Given the description of an element on the screen output the (x, y) to click on. 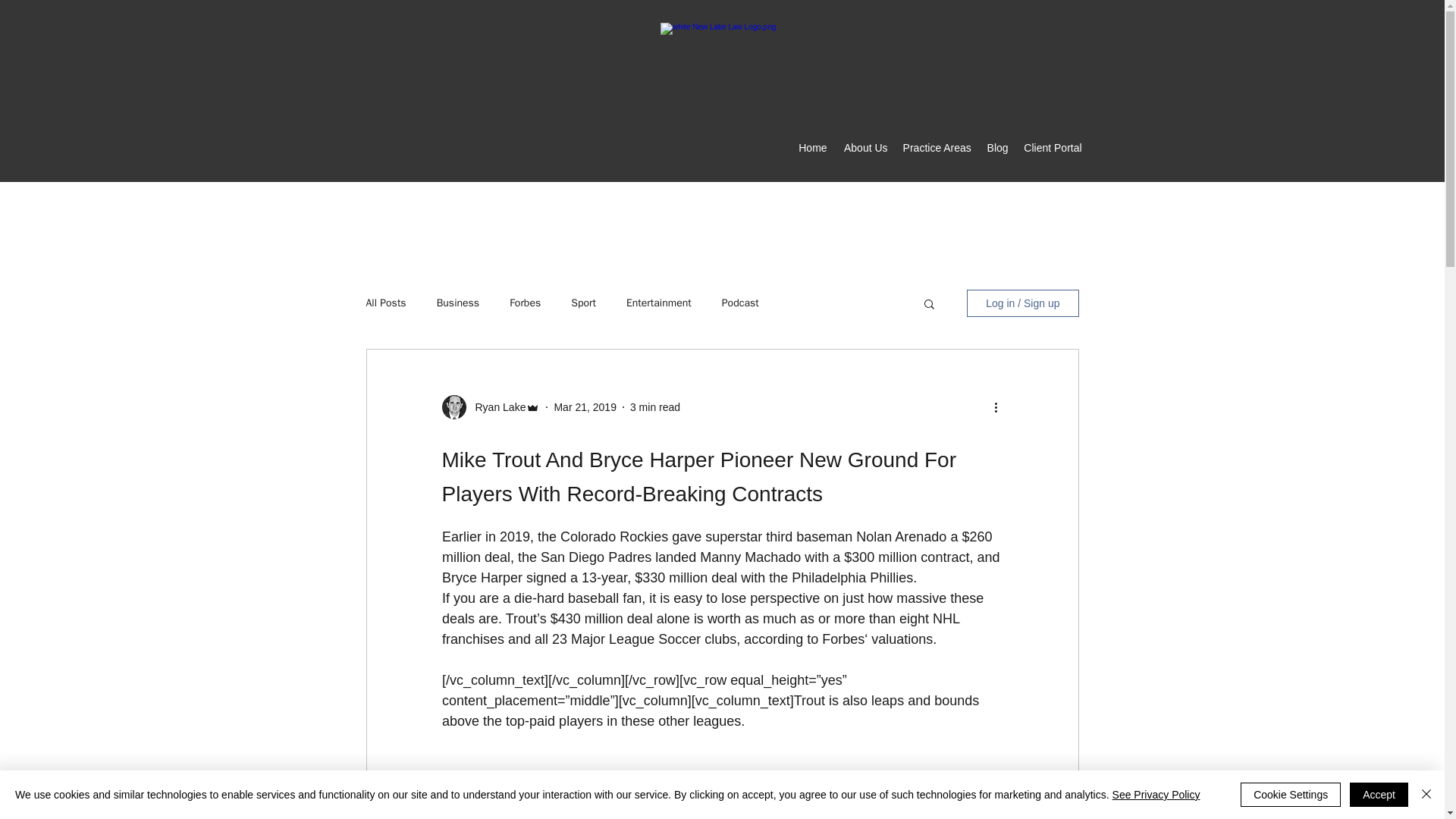
m other leagues foll (564, 817)
About Us (864, 147)
All Posts (385, 303)
Client Portal (1052, 147)
Sport (582, 303)
Business (457, 303)
Home (812, 147)
Ryan Lake (495, 406)
Blog (997, 147)
 the footsteps of baseball playe (750, 817)
